Given the description of an element on the screen output the (x, y) to click on. 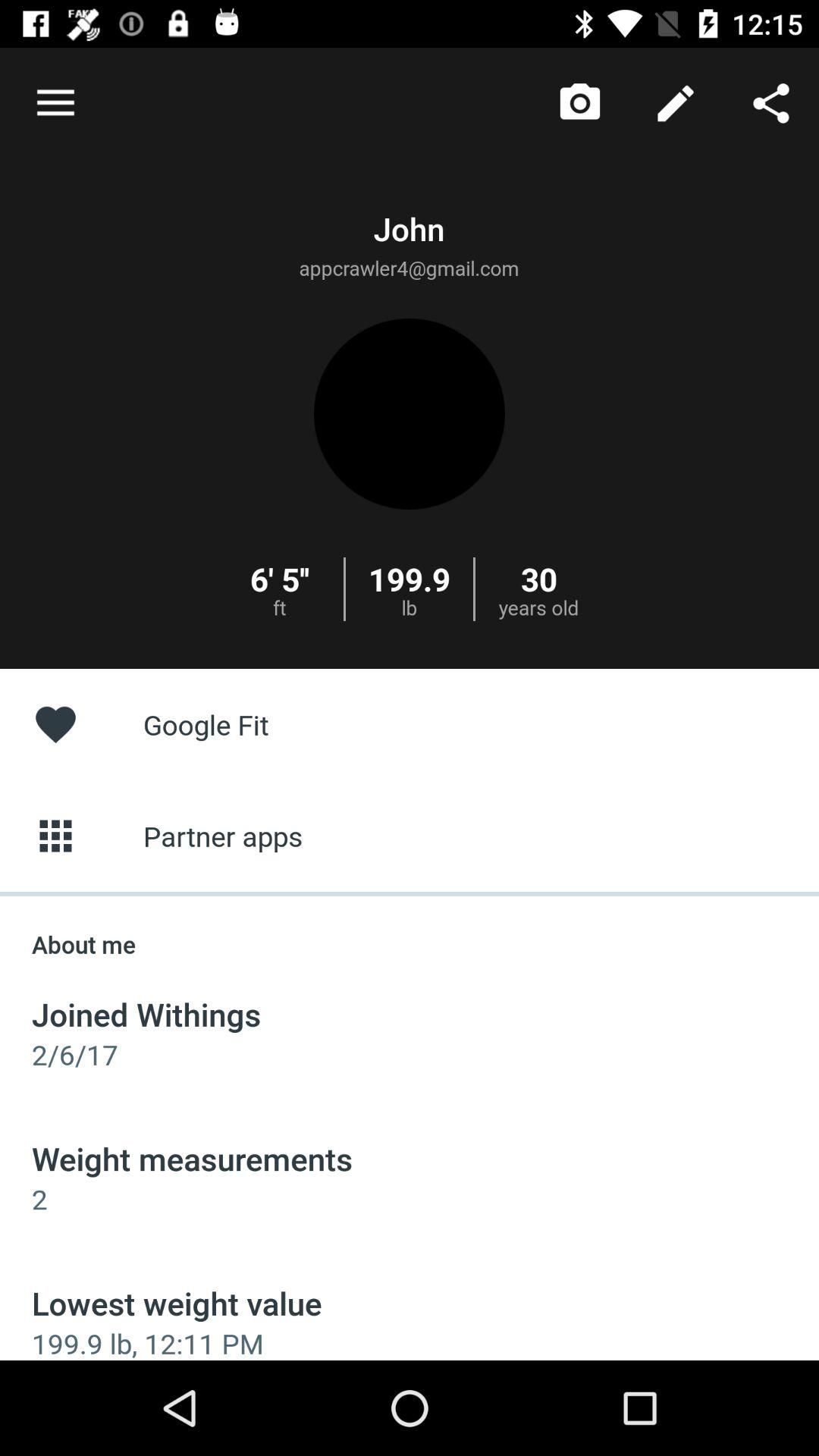
scroll until the partner apps item (409, 835)
